Given the description of an element on the screen output the (x, y) to click on. 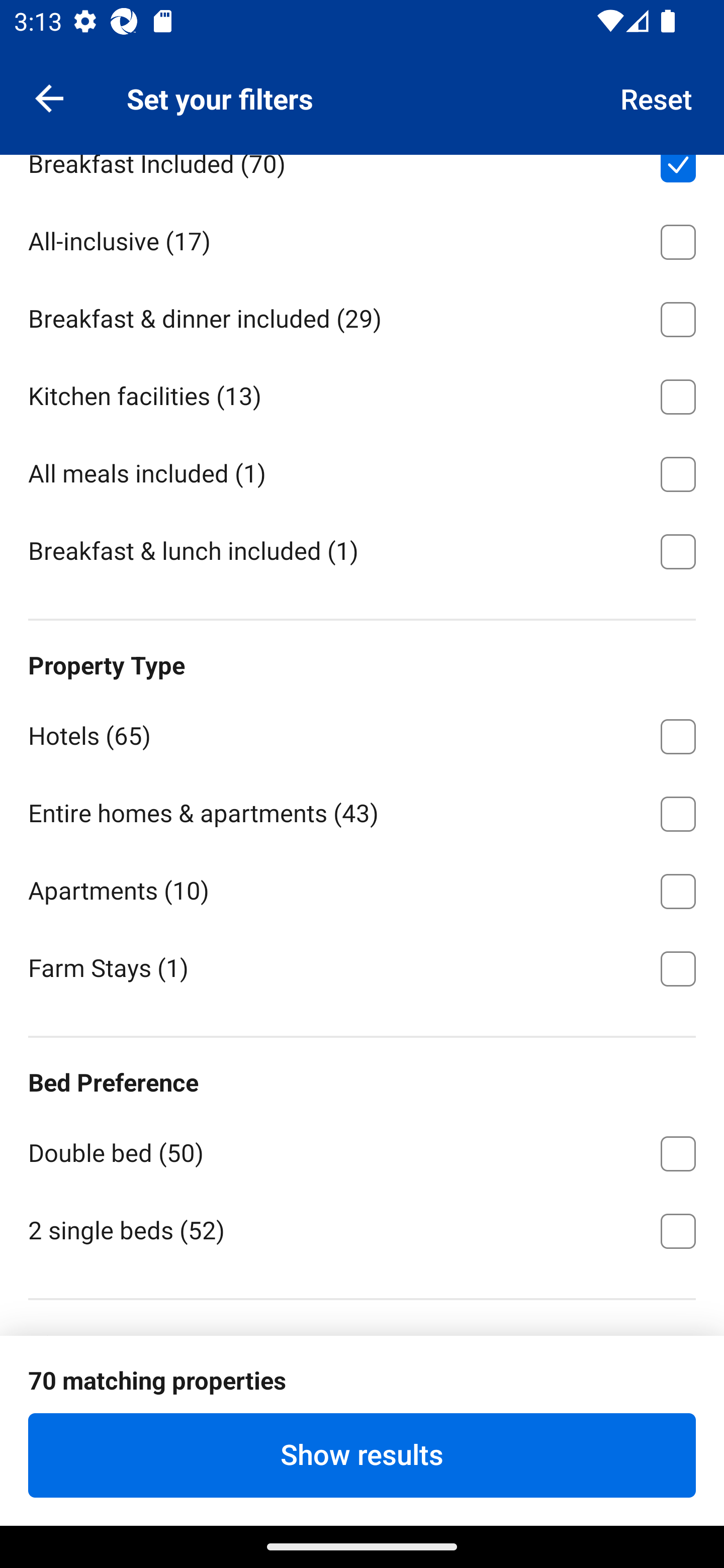
Navigate up (49, 97)
Reset (656, 97)
Breakfast Included ⁦(70) (361, 177)
All-inclusive ⁦(17) (361, 238)
Breakfast & dinner included ⁦(29) (361, 315)
Kitchen facilities ⁦(13) (361, 393)
All meals included ⁦(1) (361, 470)
Breakfast & lunch included ⁦(1) (361, 550)
Hotels ⁦(65) (361, 732)
Entire homes & apartments ⁦(43) (361, 810)
Apartments ⁦(10) (361, 887)
Farm Stays ⁦(1) (361, 967)
Double bed ⁦(50) (361, 1149)
2 single beds ⁦(52) (361, 1229)
Show results (361, 1454)
